Given the description of an element on the screen output the (x, y) to click on. 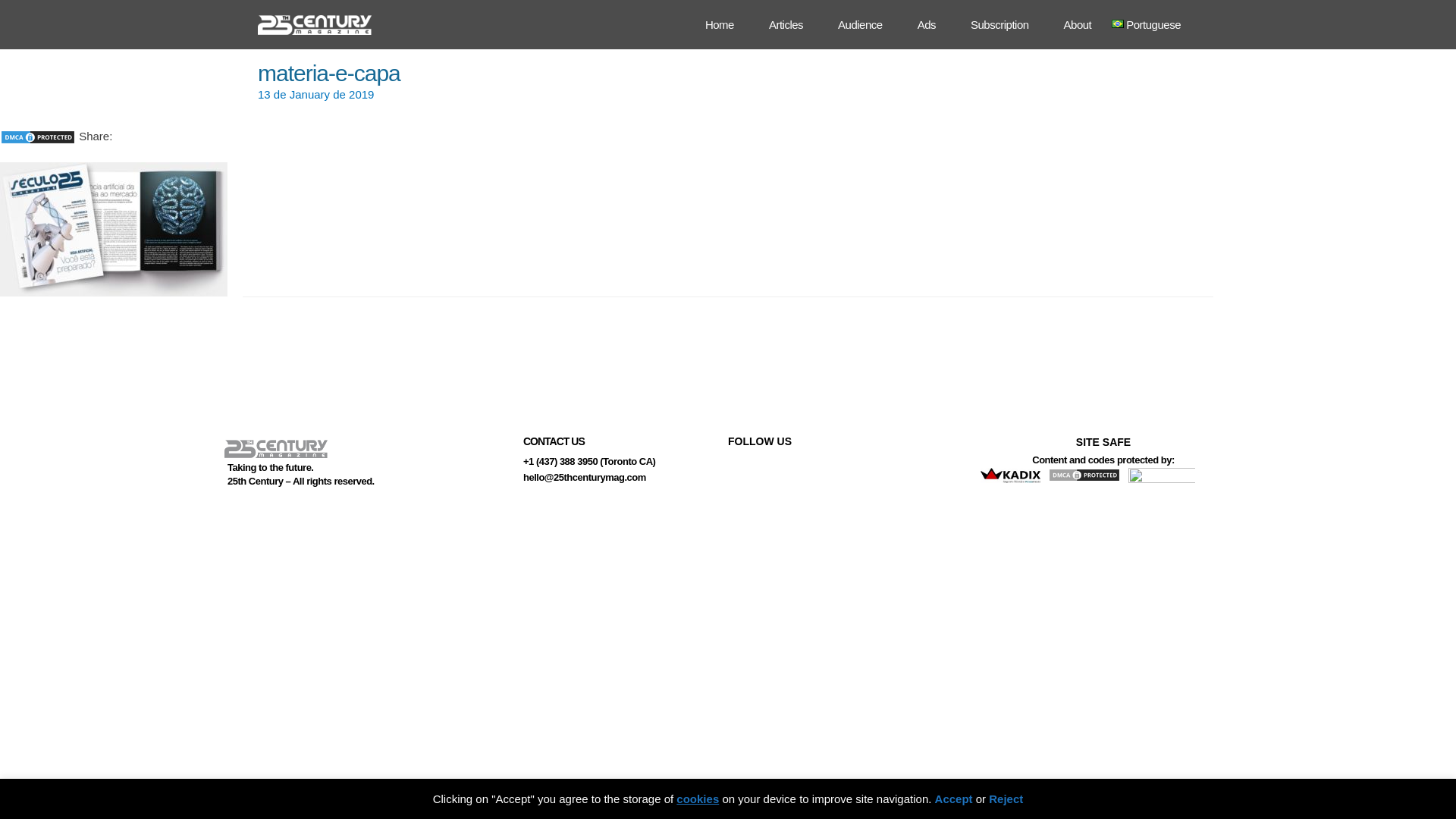
Articles Element type: text (785, 24)
Development and codes by Kadix Element type: hover (1011, 476)
Audience Element type: text (860, 24)
Accept Element type: text (953, 798)
Content Protect by DMCA.com Element type: hover (1085, 475)
Portuguese Element type: text (1153, 24)
Home Element type: text (719, 24)
Subscription Element type: text (999, 24)
About Element type: text (1077, 24)
DMCA Compliance Information for 25thcenturymag.com Element type: hover (1163, 477)
Ads Element type: text (926, 24)
Reject Element type: text (1005, 798)
cookies Element type: text (697, 798)
